Given the description of an element on the screen output the (x, y) to click on. 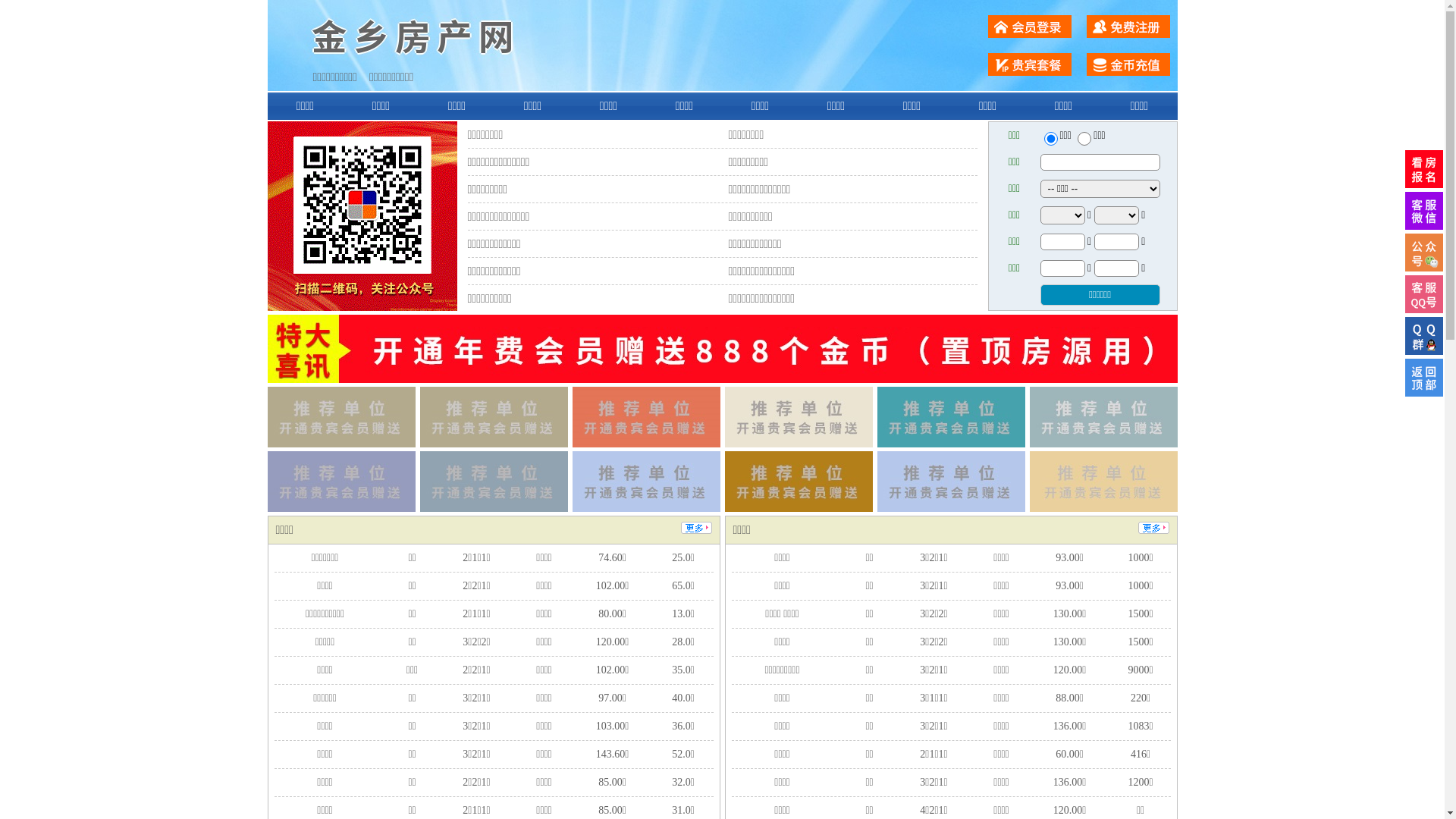
chuzu Element type: text (1084, 138)
ershou Element type: text (1050, 138)
